Given the description of an element on the screen output the (x, y) to click on. 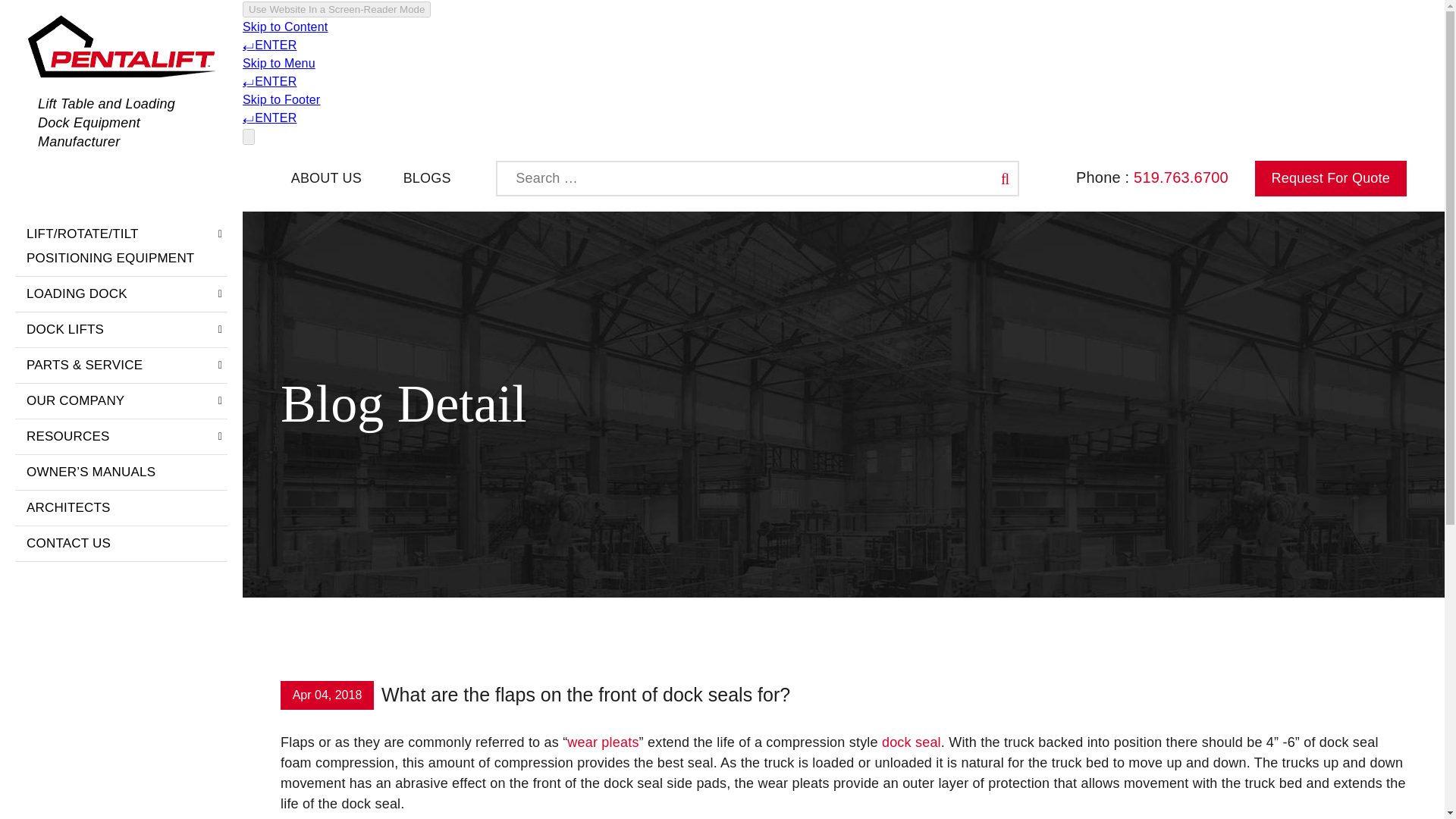
Request For Quote (1330, 178)
ABOUT US (326, 177)
LOADING DOCK (120, 294)
Phone : 519.763.6700 (1155, 176)
BLOGS (427, 177)
